Given the description of an element on the screen output the (x, y) to click on. 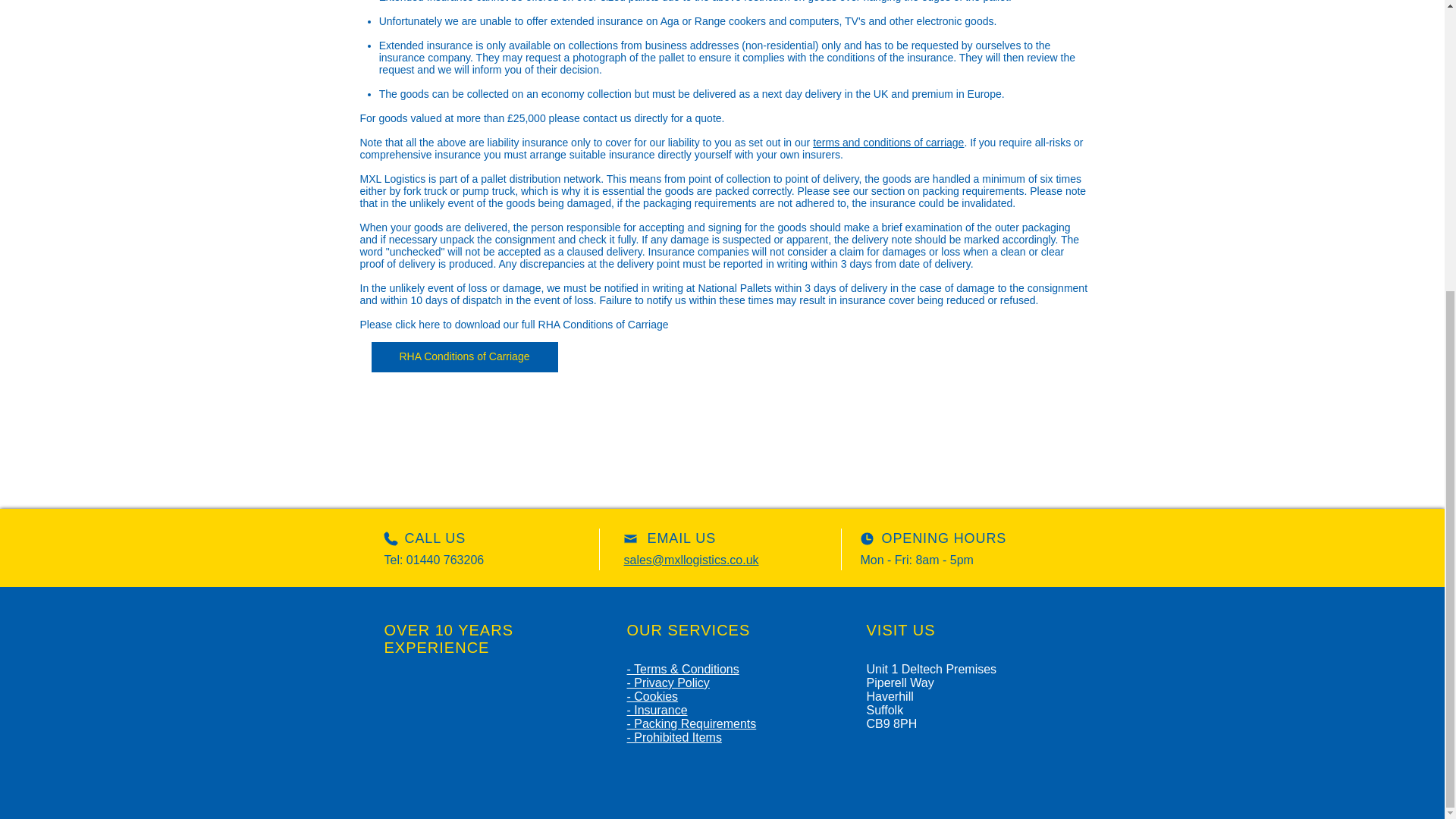
- Prohibited Items (673, 737)
RHA Conditions of Carriage (464, 357)
- Packing Requirements (690, 723)
- Cookies (652, 696)
- Insurance (656, 709)
- Privacy Policy (667, 682)
terms and conditions of carriage (887, 142)
